Given the description of an element on the screen output the (x, y) to click on. 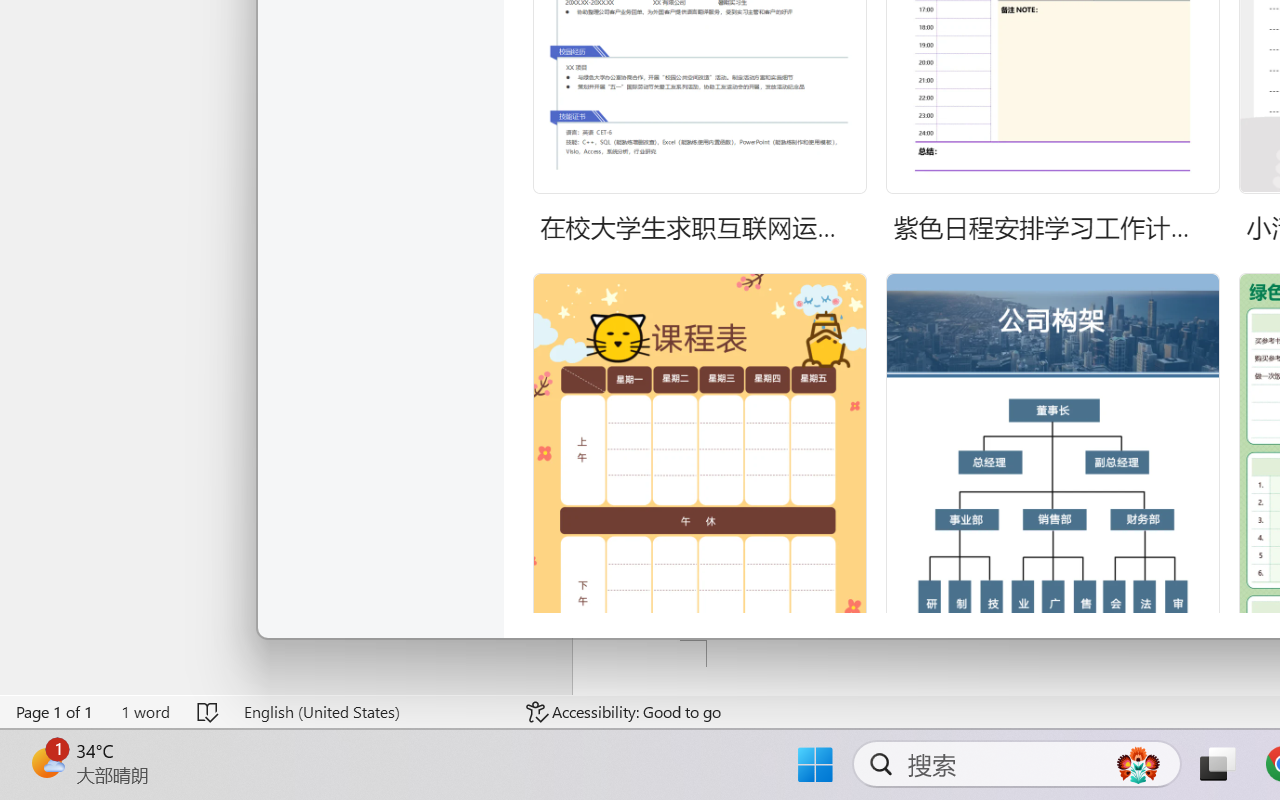
Spelling and Grammar Check No Errors (208, 712)
